Given the description of an element on the screen output the (x, y) to click on. 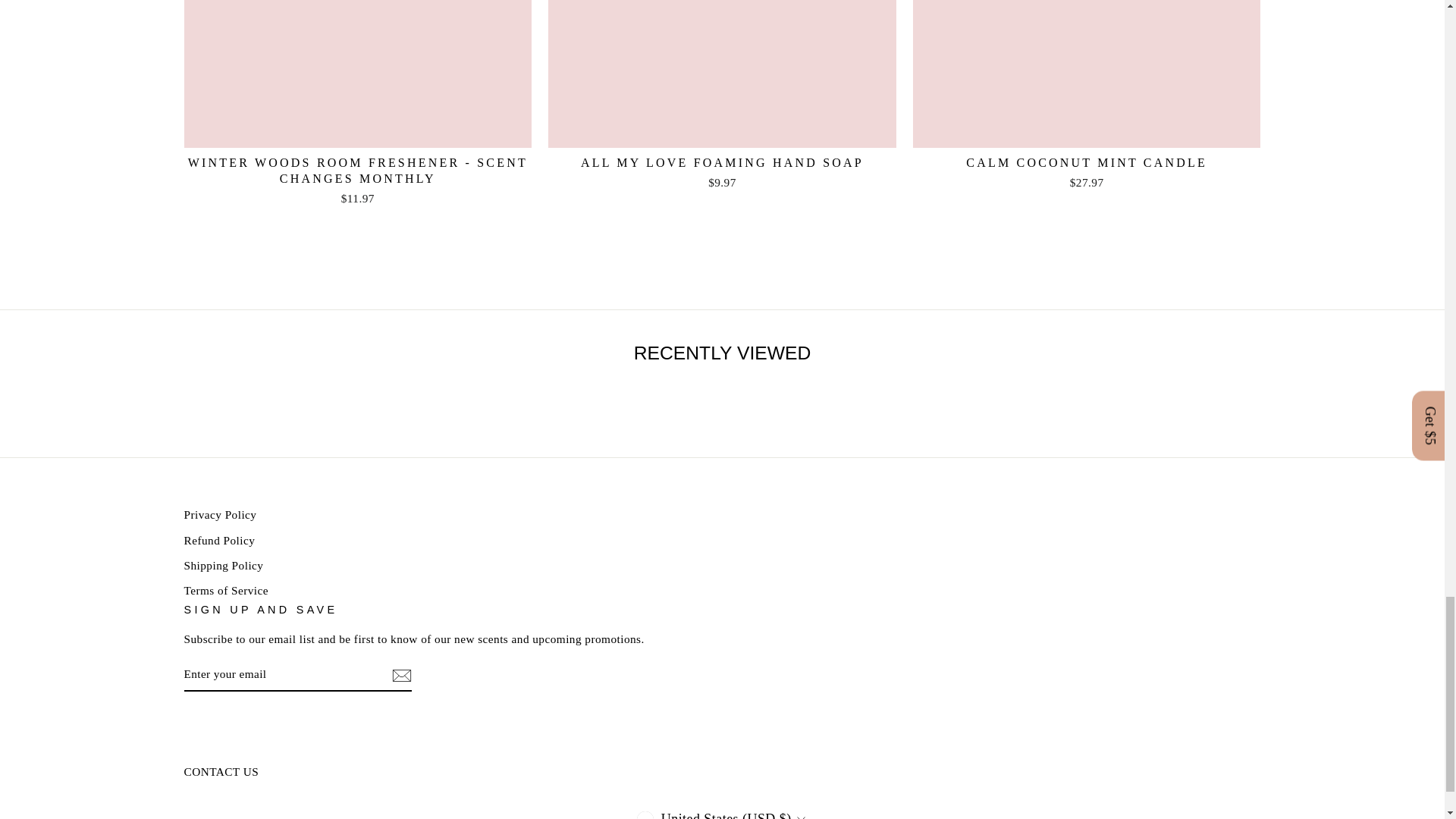
icon-email (400, 675)
